Given the description of an element on the screen output the (x, y) to click on. 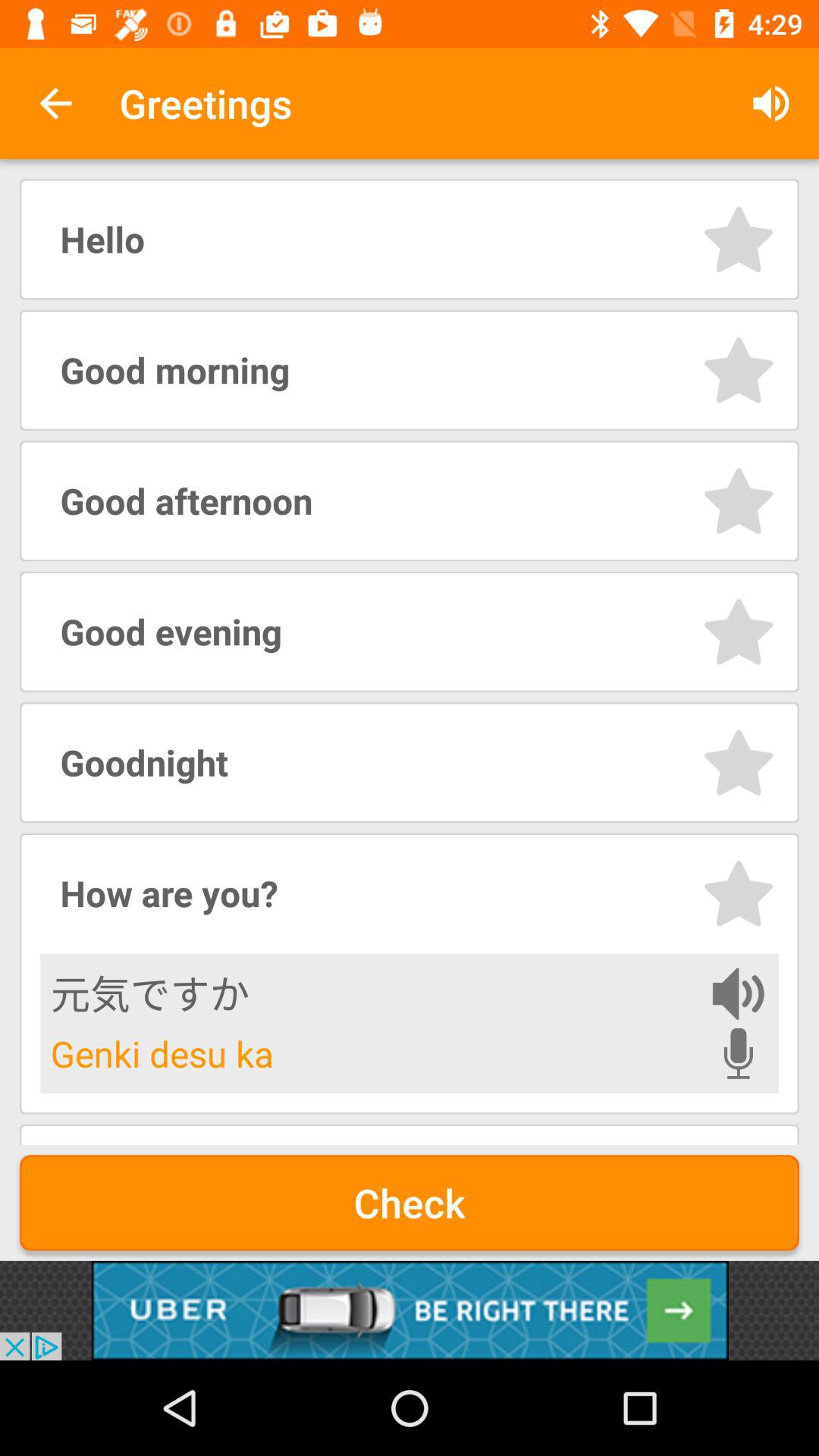
select preferred phrase (738, 893)
